Given the description of an element on the screen output the (x, y) to click on. 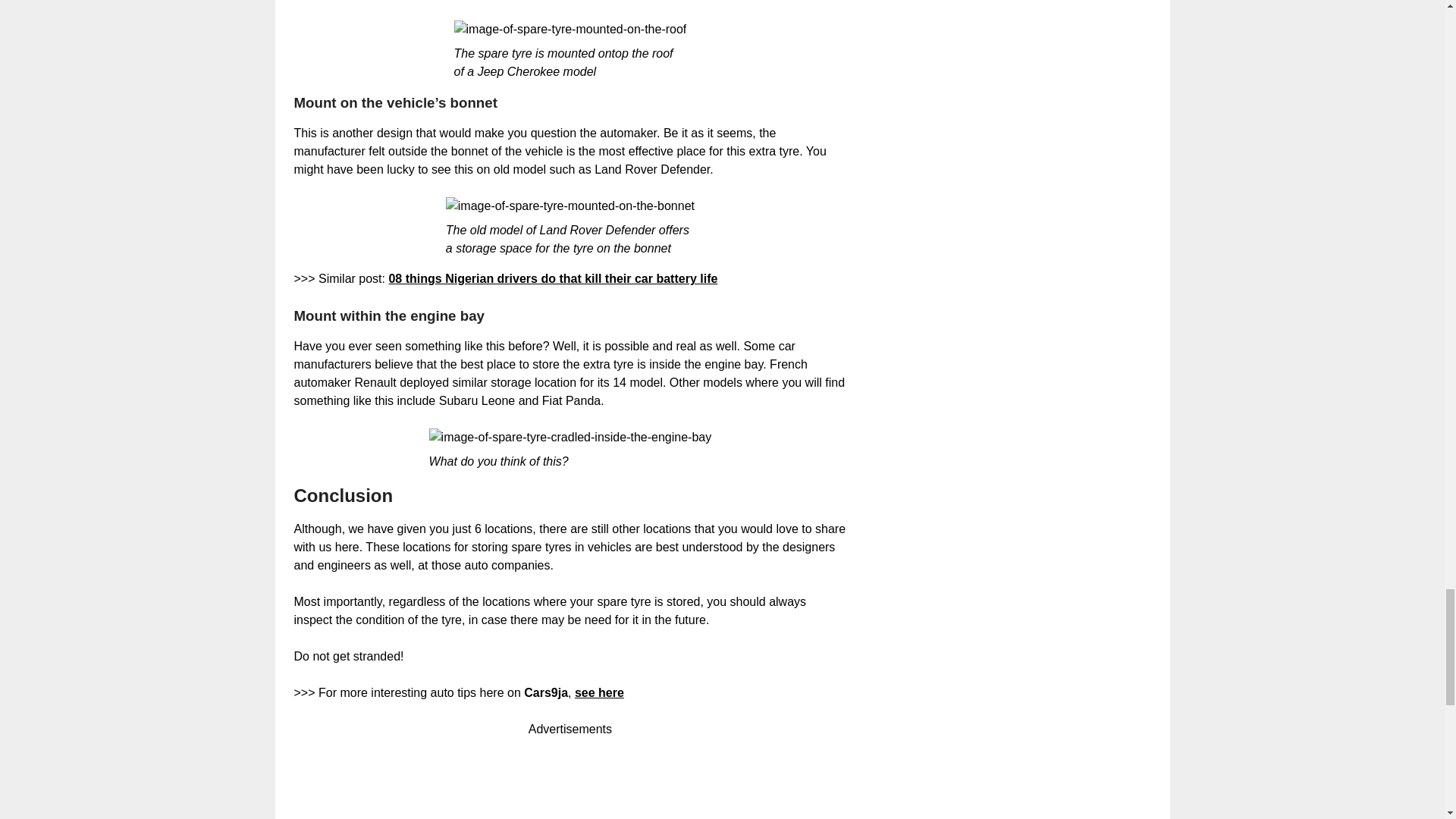
see here (599, 692)
